Given the description of an element on the screen output the (x, y) to click on. 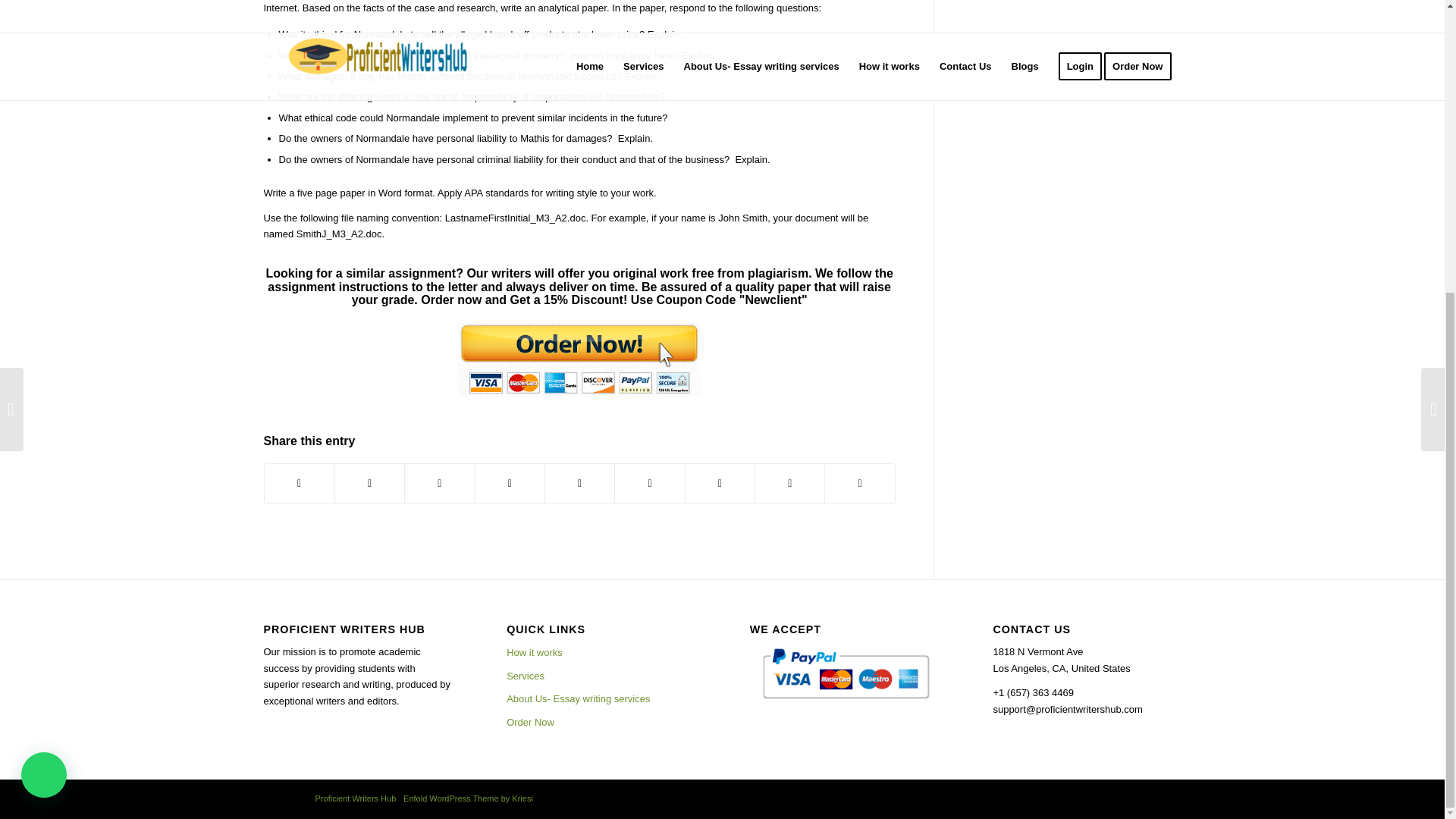
How it works (600, 652)
Services (600, 676)
About Us- Essay writing services (600, 698)
Enfold WordPress Theme by Kriesi (467, 798)
Proficient Writers Hub (355, 798)
Order Now (600, 722)
